Given the description of an element on the screen output the (x, y) to click on. 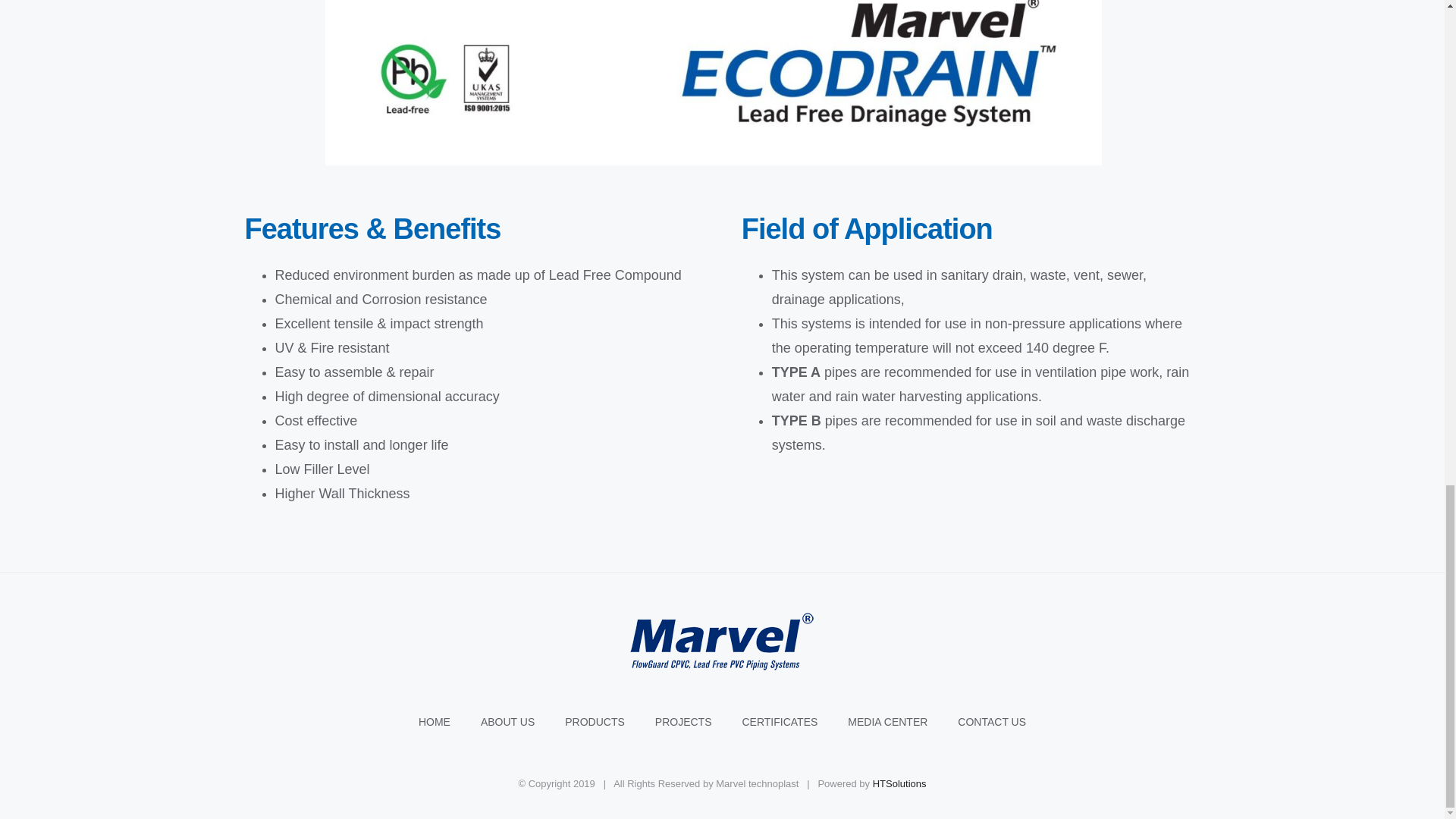
HTSolutions (899, 783)
MEDIA CENTER (902, 721)
PROJECTS (698, 721)
ABOUT US (522, 721)
CERTIFICATES (794, 721)
PRODUCTS (609, 721)
HOME (449, 721)
CONTACT US (992, 721)
Ecodrain 2 (712, 82)
